Given the description of an element on the screen output the (x, y) to click on. 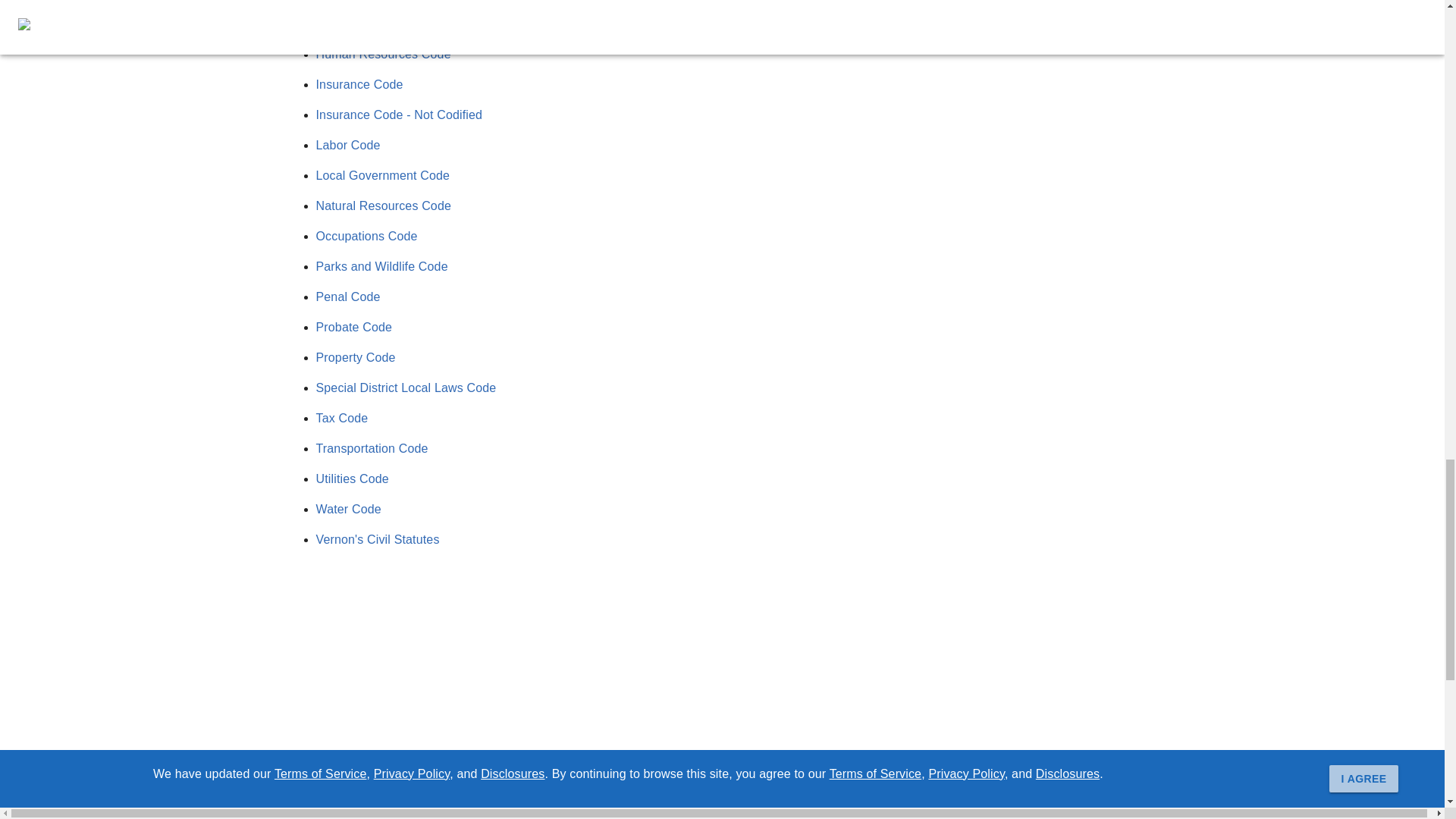
Health and Safety Code (380, 23)
Property Code (354, 357)
Utilities Code (351, 478)
Labor Code (347, 144)
Special District Local Laws Code (405, 387)
Parks and Wildlife Code (380, 266)
Tax Code (341, 418)
Human Resources Code (382, 53)
Insurance Code (359, 83)
Transportation Code (371, 448)
